Given the description of an element on the screen output the (x, y) to click on. 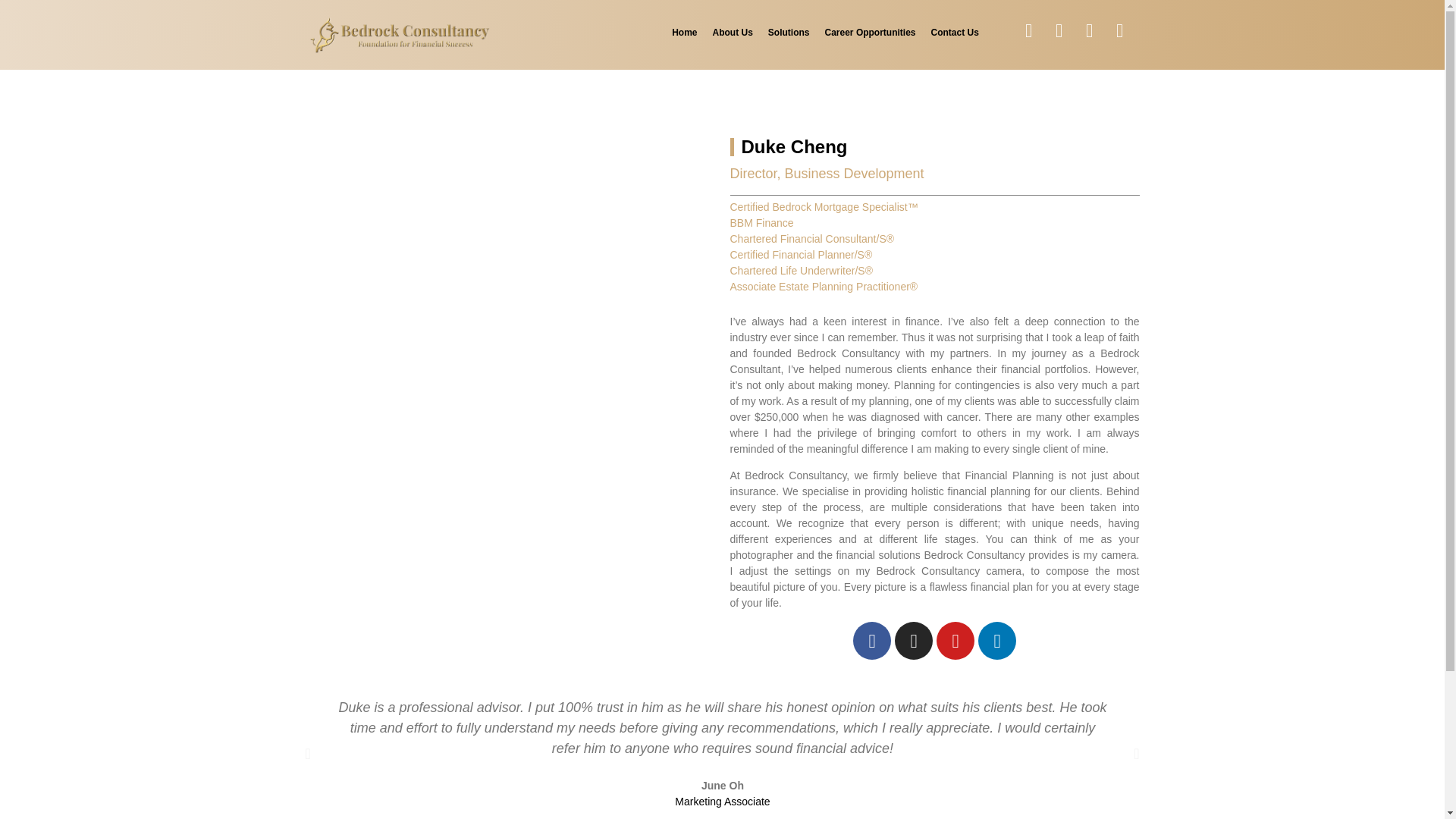
Career Opportunities (869, 32)
Home (683, 32)
About Us (732, 32)
Solutions (788, 32)
Contact Us (955, 32)
